Given the description of an element on the screen output the (x, y) to click on. 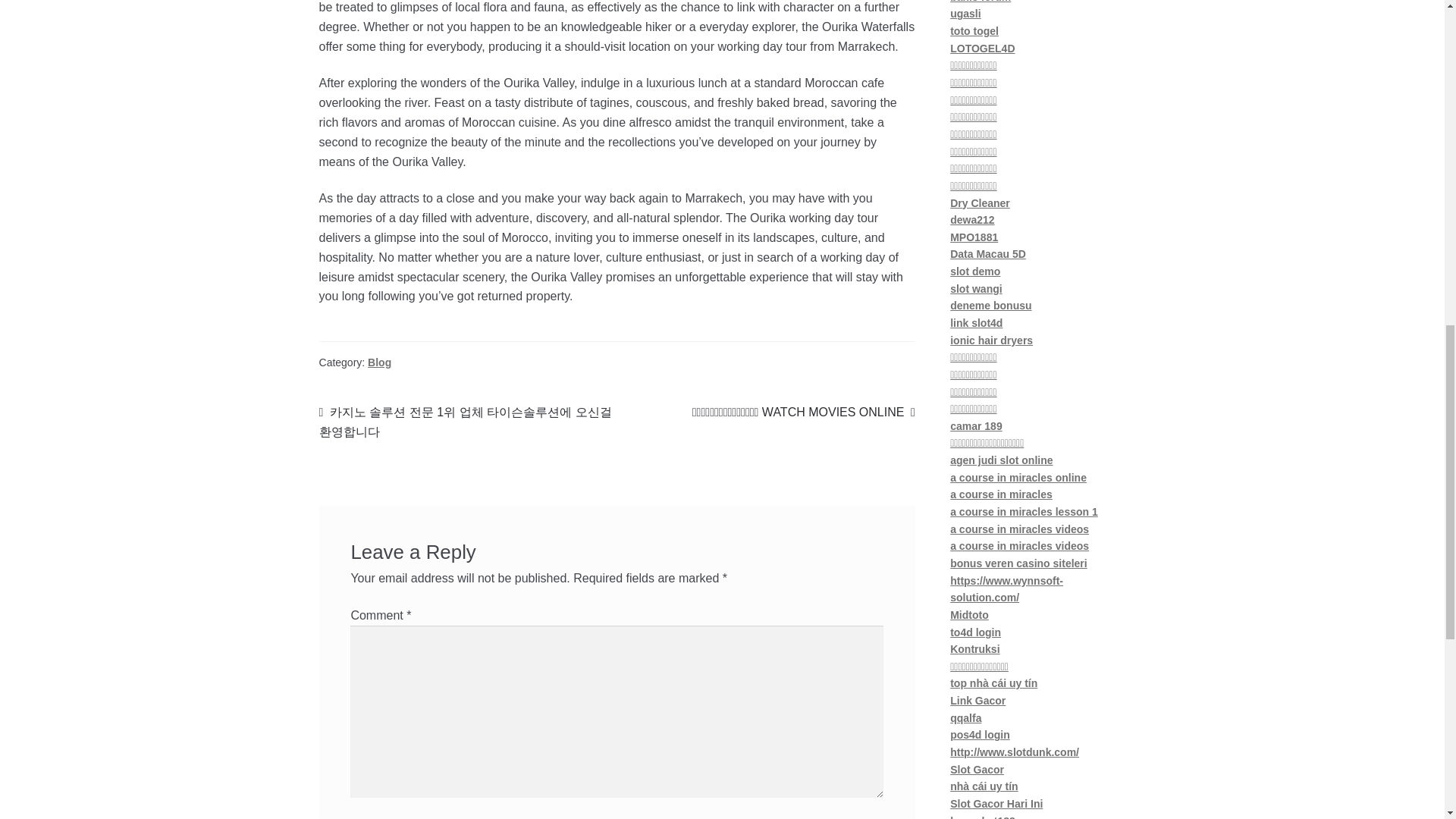
Blog (379, 362)
